Given the description of an element on the screen output the (x, y) to click on. 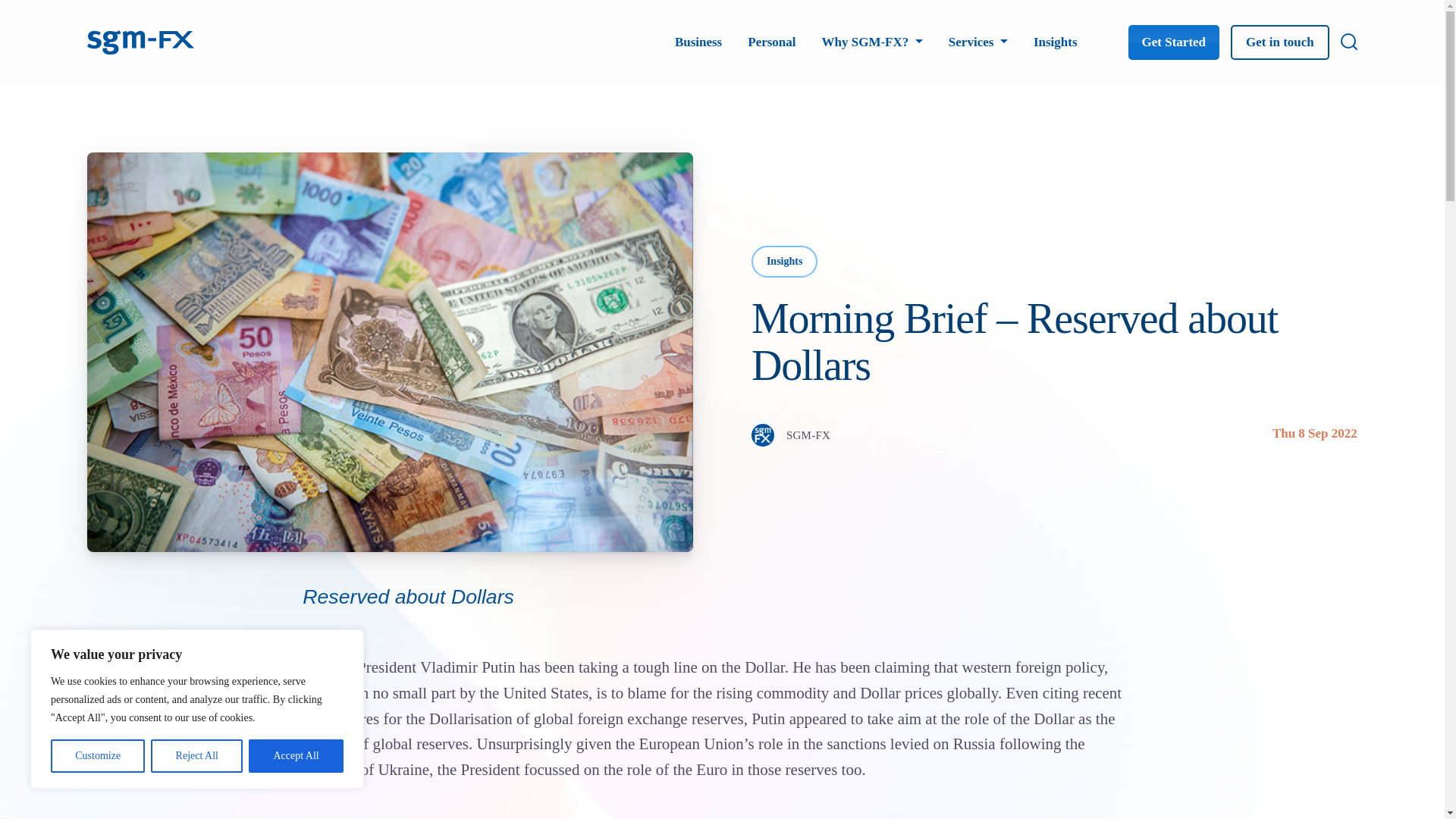
Why SGM-FX? (872, 42)
Why SGM-FX? (872, 42)
SGM-FX Innovative Foreign Exchange Services (141, 40)
Services (978, 42)
Customize (97, 756)
Insights (783, 261)
Accept All (295, 756)
Insights (1055, 42)
Services (978, 42)
Get in touch (1279, 42)
Business (698, 42)
Insights (1055, 42)
Get Started (1174, 42)
Business (698, 42)
Personal (771, 42)
